Given the description of an element on the screen output the (x, y) to click on. 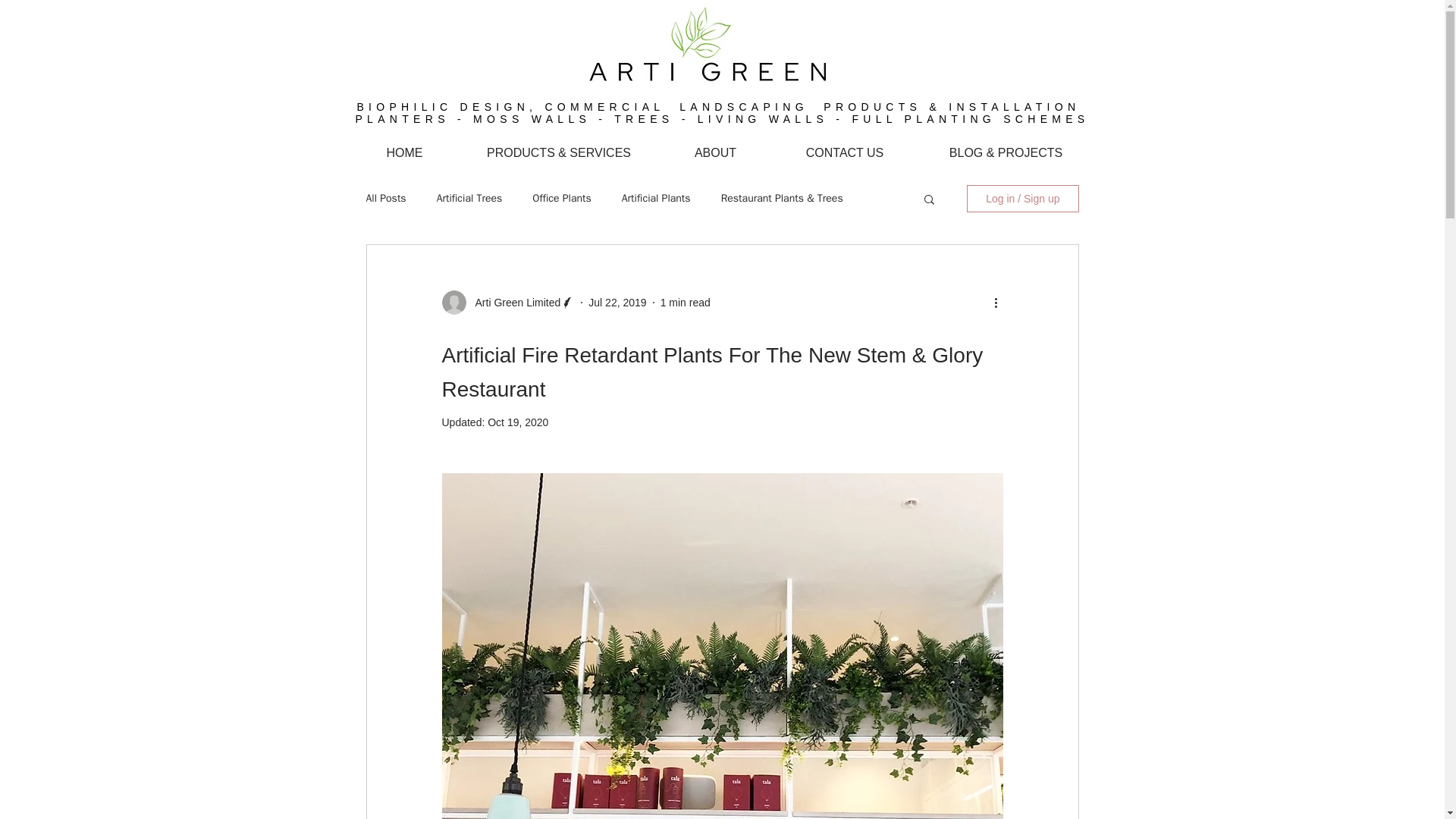
Arti Green Limited (512, 302)
All Posts (385, 198)
CONTACT US (844, 152)
HOME (404, 152)
Oct 19, 2020 (517, 422)
Artificial Trees (469, 198)
1 min read (685, 301)
Jul 22, 2019 (617, 301)
ABOUT (715, 152)
Artificial Plants (655, 198)
